Given the description of an element on the screen output the (x, y) to click on. 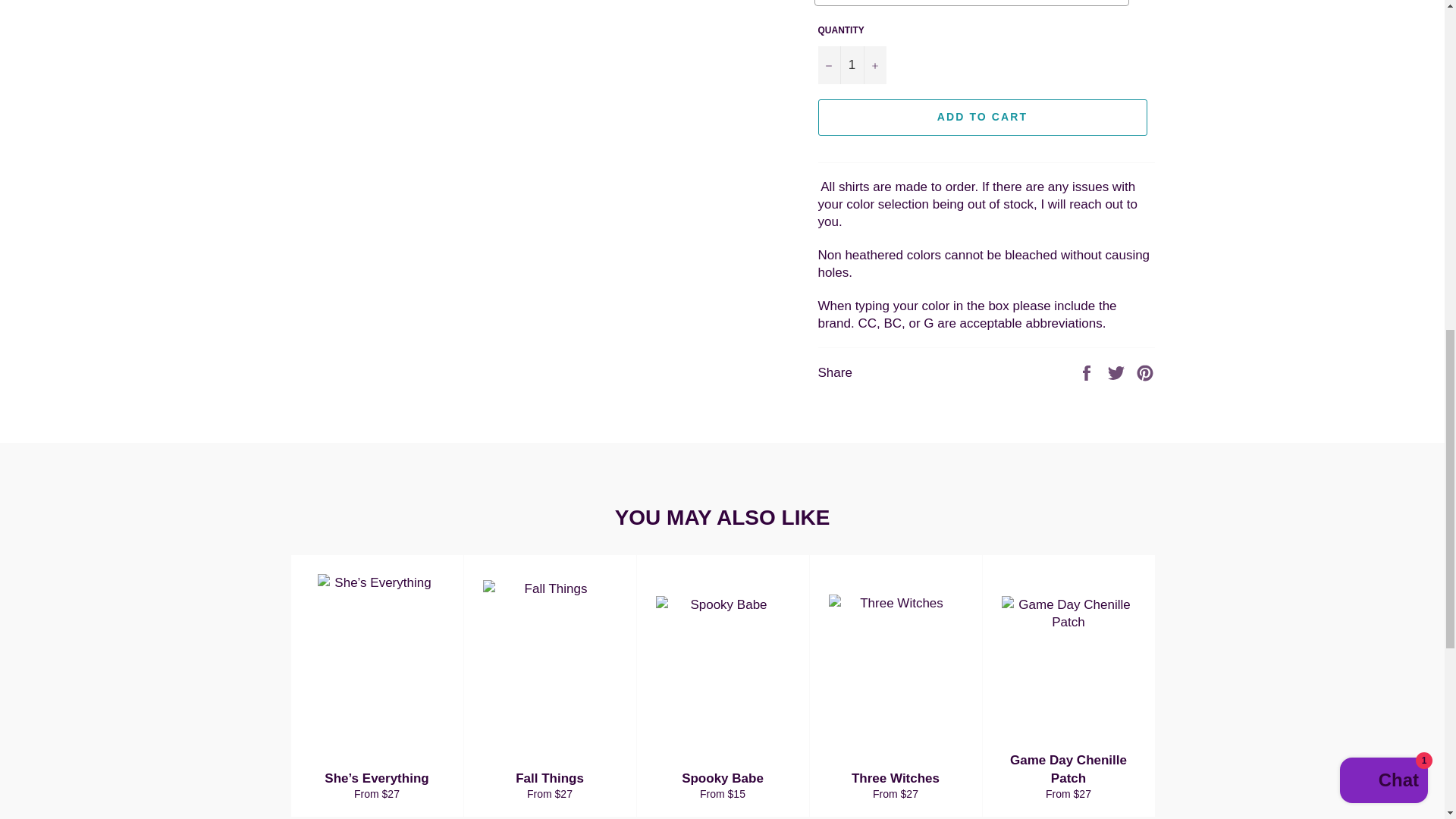
Pin on Pinterest (1144, 371)
Tweet on Twitter (1117, 371)
Share on Facebook (1088, 371)
1 (850, 64)
